Given the description of an element on the screen output the (x, y) to click on. 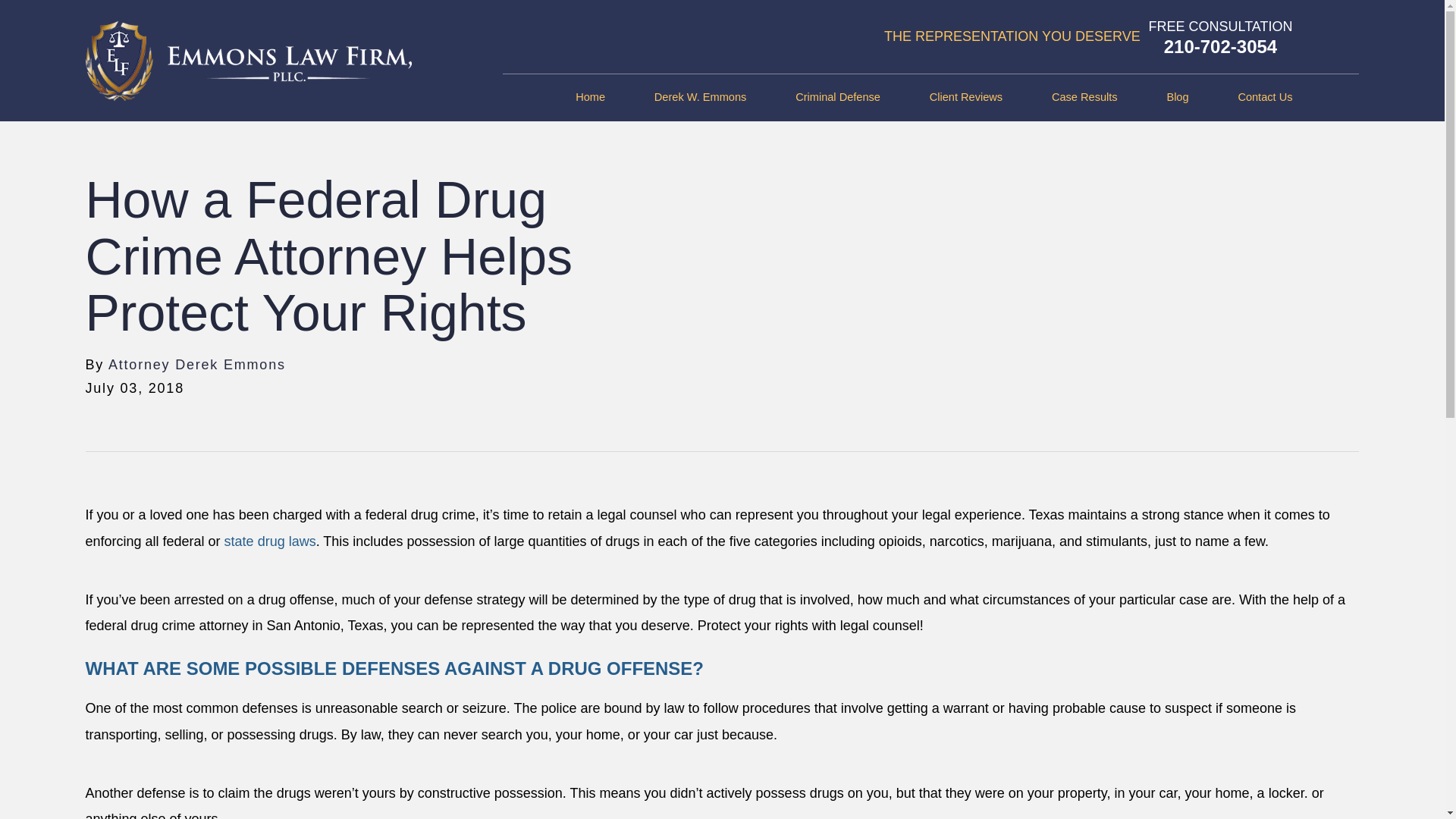
Criminal Defense (837, 97)
Derek W. Emmons (699, 97)
Law Office of Derek W. Emmons, P.C. (247, 60)
Open the accessibility options menu (1412, 786)
210-702-3054 (1220, 46)
